Given the description of an element on the screen output the (x, y) to click on. 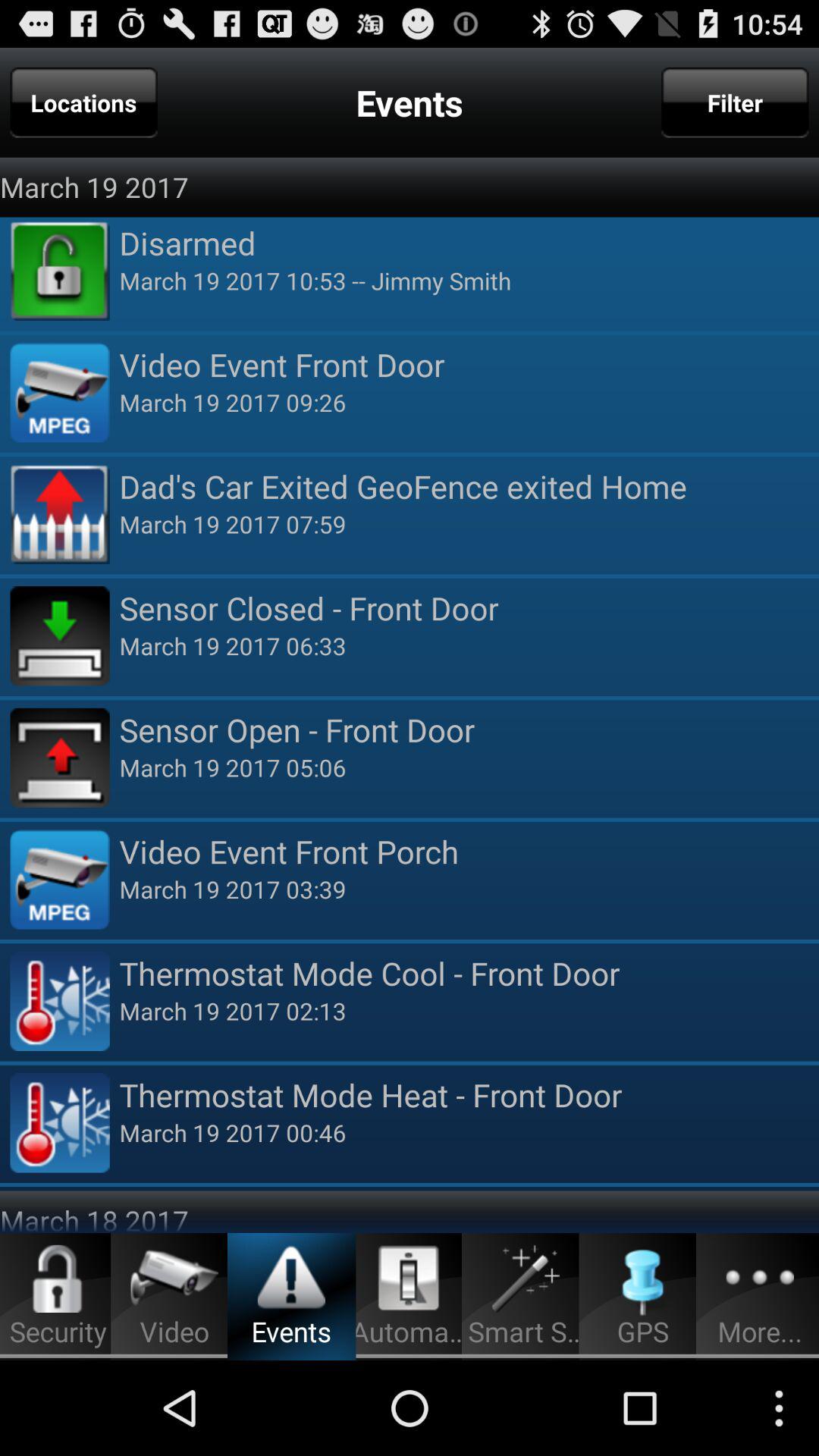
press dad s car (469, 485)
